Given the description of an element on the screen output the (x, y) to click on. 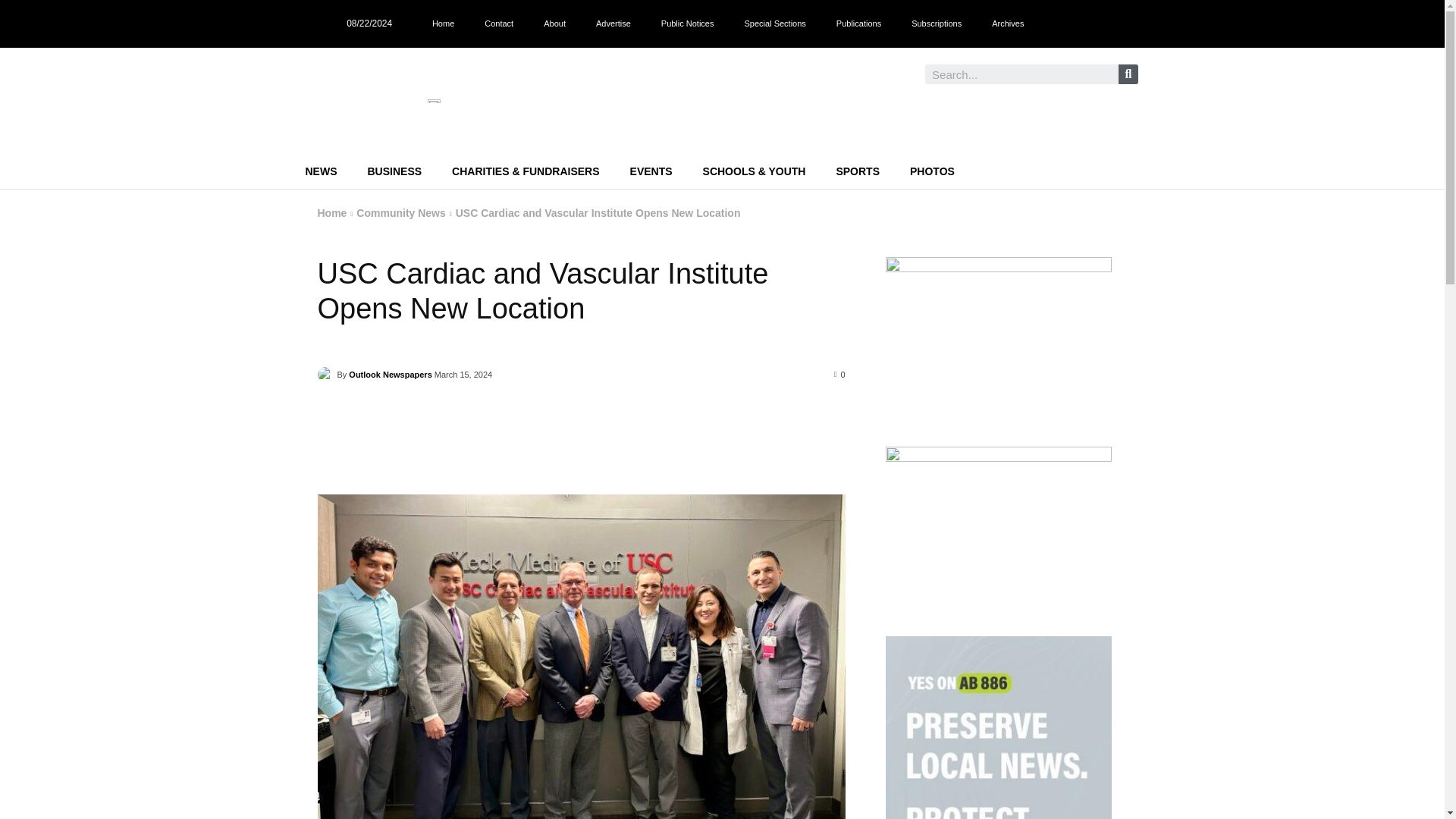
Public Notices (687, 23)
Outlook Newspapers (326, 374)
View all posts in Community News (400, 213)
Special Sections (775, 23)
Publications (858, 23)
NEWS (320, 171)
Contact (498, 23)
About (554, 23)
Search (1021, 74)
Archives (1007, 23)
